Given the description of an element on the screen output the (x, y) to click on. 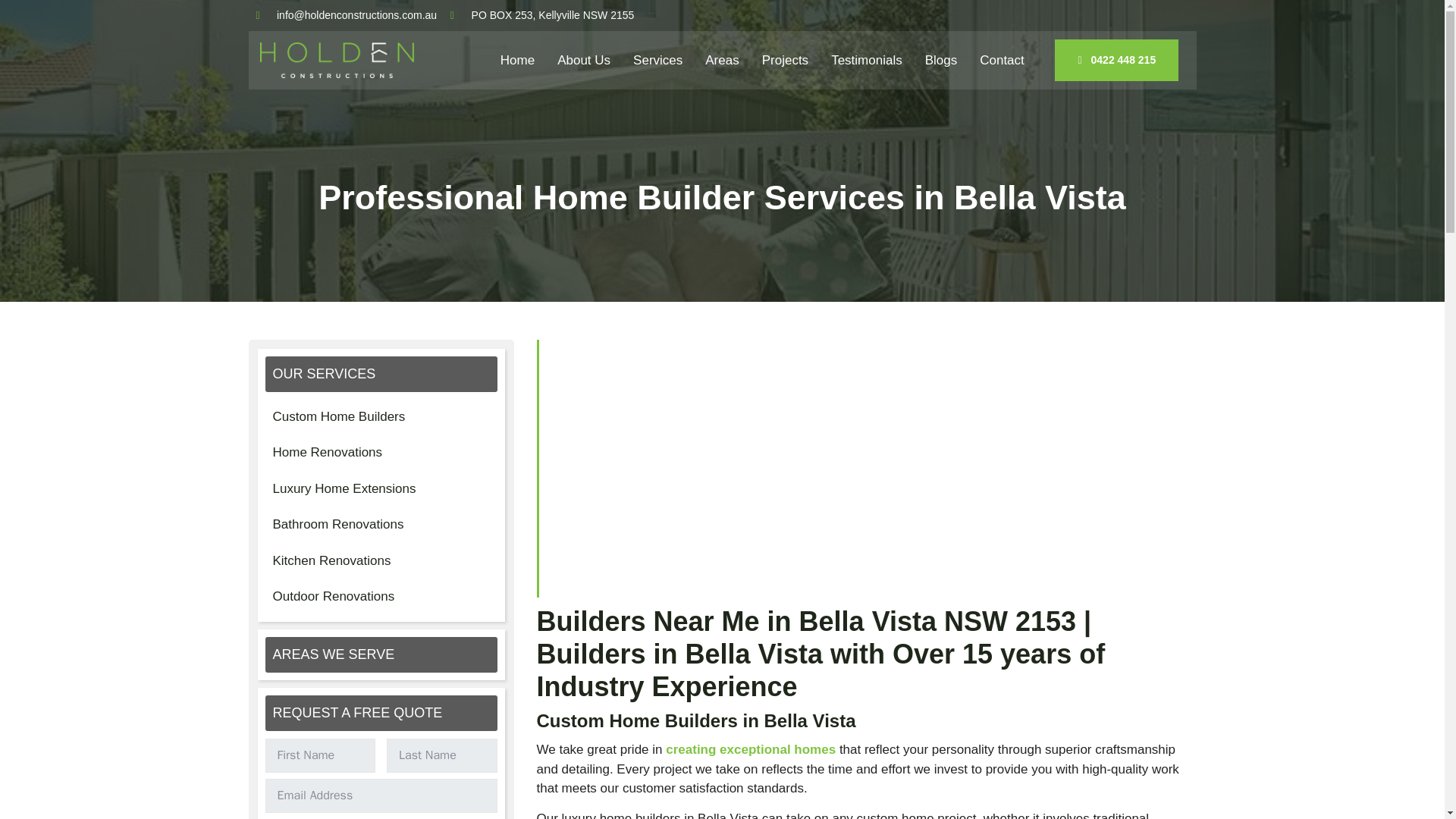
Services (657, 60)
Blogs (941, 60)
Home (517, 60)
About Us (583, 60)
Areas (721, 60)
Projects (785, 60)
Contact (1001, 60)
Testimonials (866, 60)
